Given the description of an element on the screen output the (x, y) to click on. 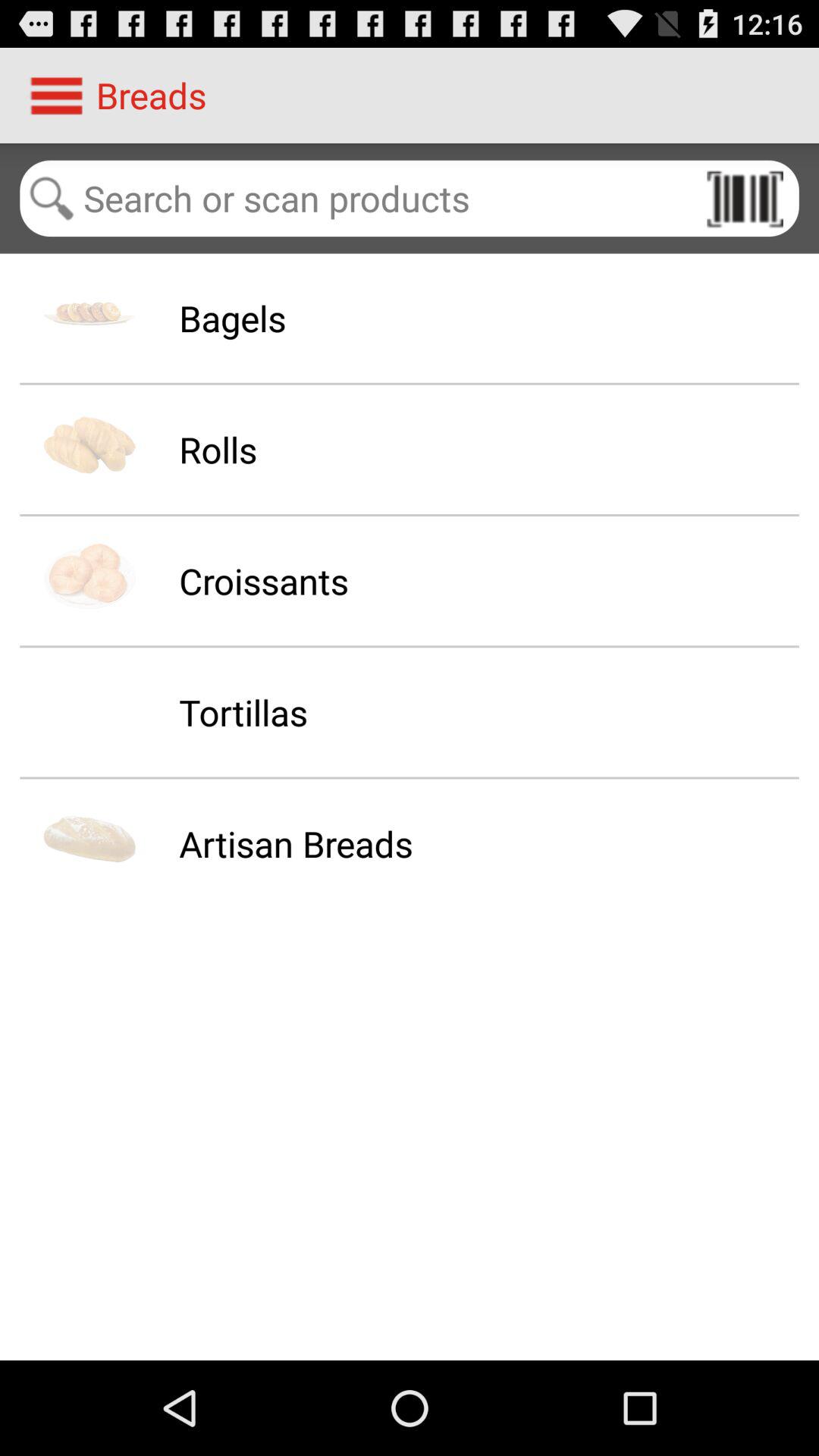
press the icon below tortillas app (295, 843)
